Given the description of an element on the screen output the (x, y) to click on. 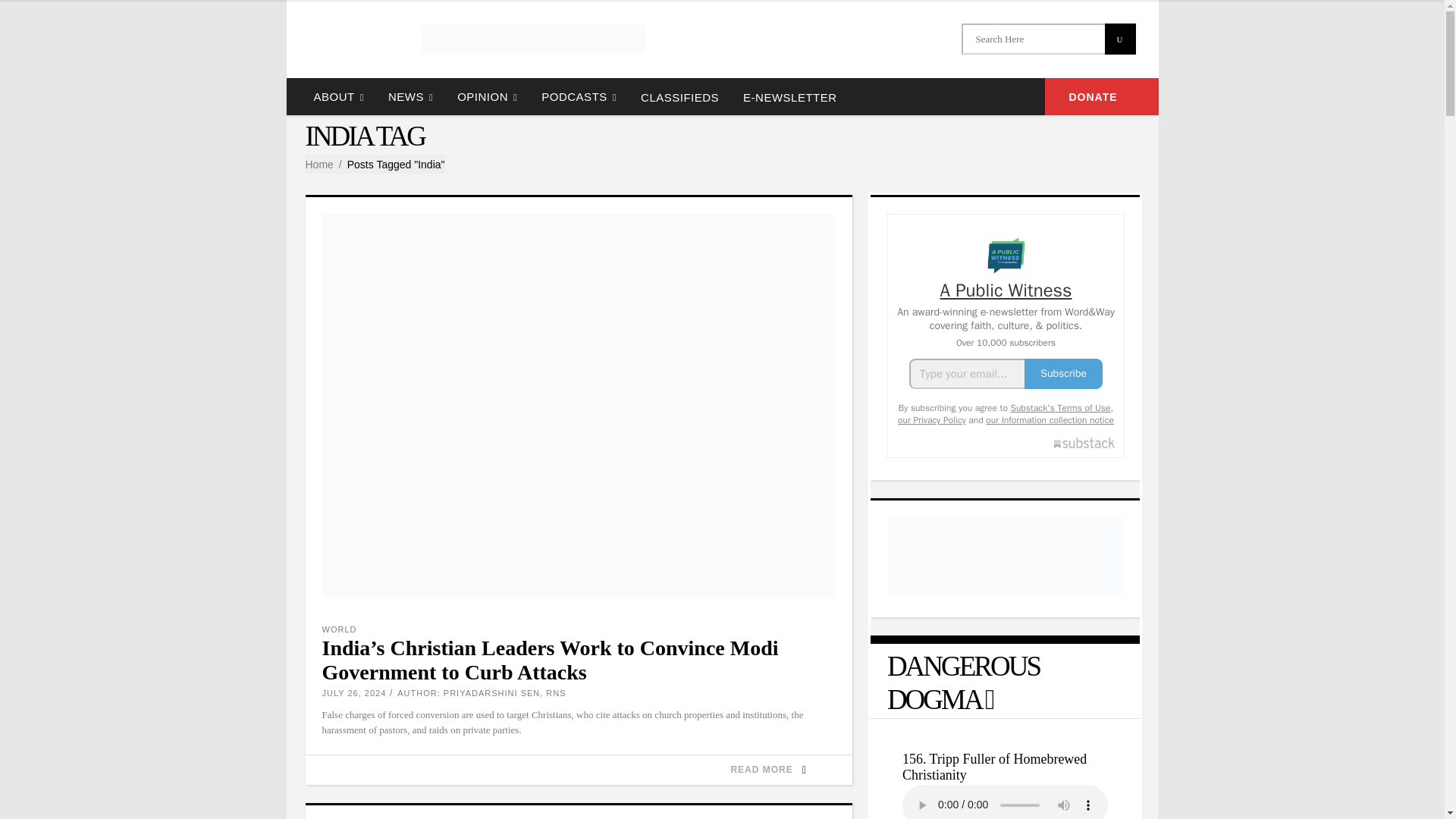
NEWS (410, 96)
U (1119, 38)
ABOUT (338, 96)
U (1119, 38)
E-NEWSLETTER (789, 96)
DONATE (1101, 96)
CLASSIFIEDS (679, 96)
OPINION (487, 96)
PODCASTS (578, 96)
U (1119, 38)
